Given the description of an element on the screen output the (x, y) to click on. 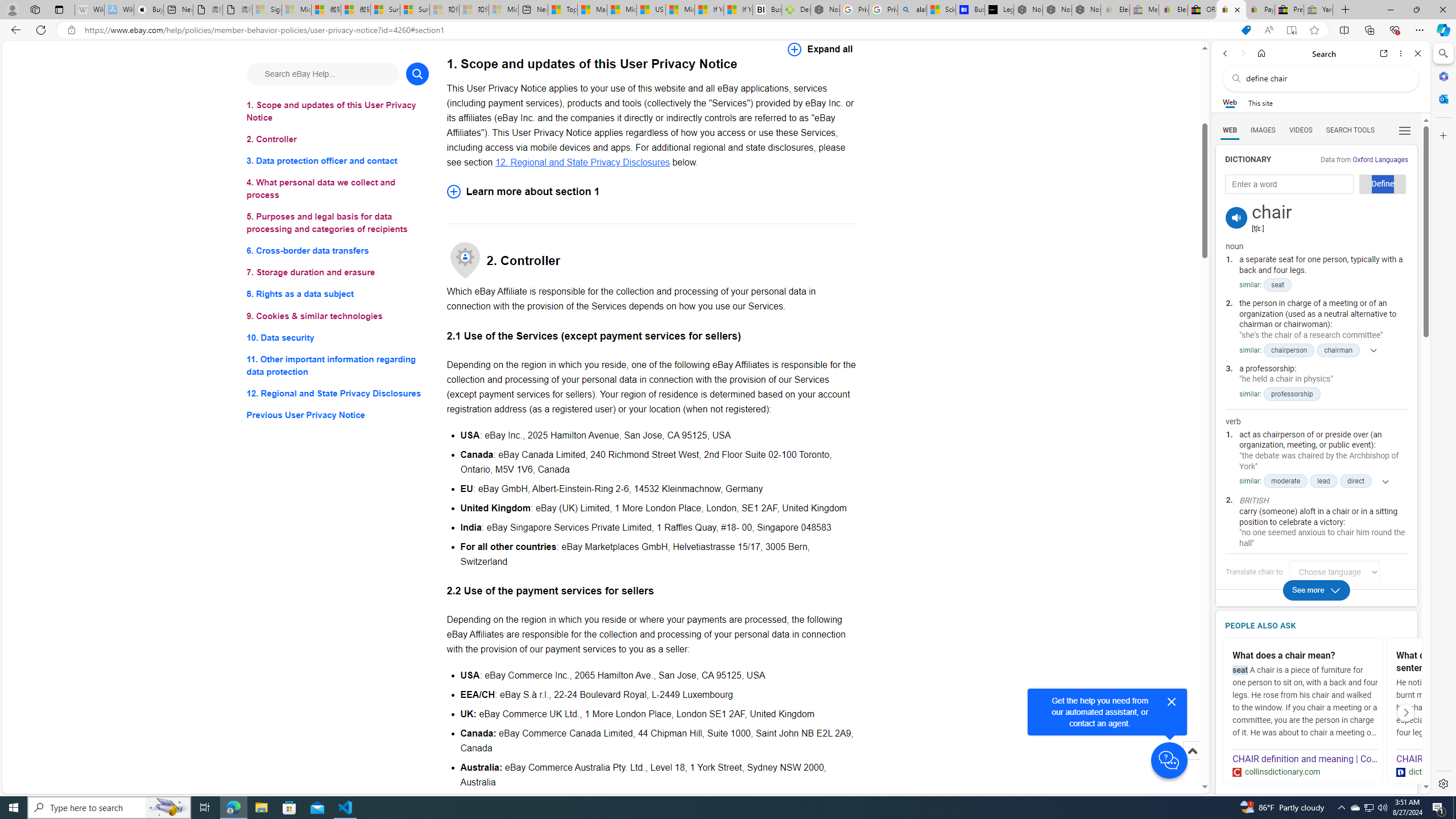
6. Cross-border data transfers (337, 250)
8. Rights as a data subject (337, 293)
